Given the description of an element on the screen output the (x, y) to click on. 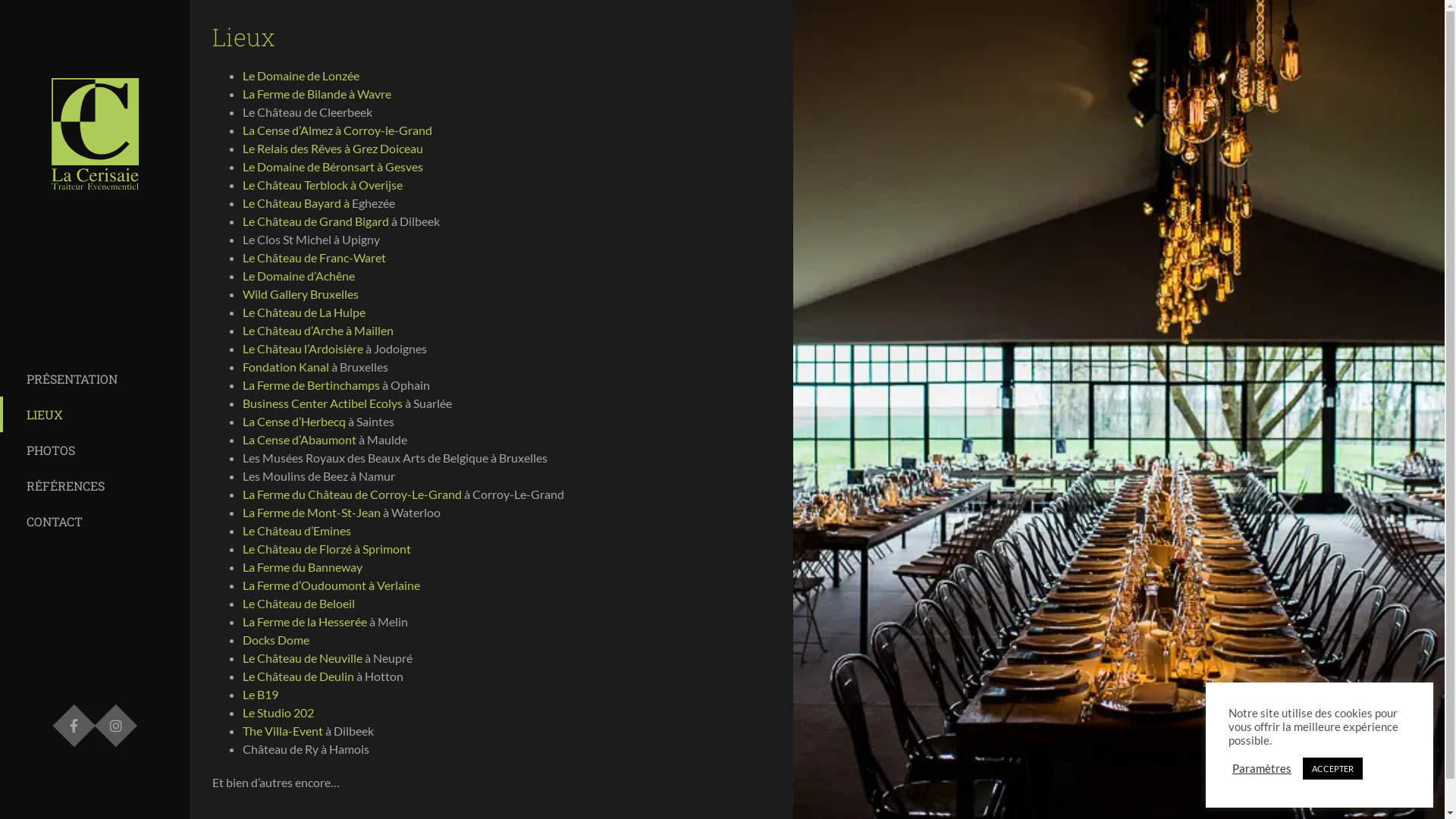
Fondation Kanal Element type: text (285, 366)
CONTACT Element type: text (94, 521)
PHOTOS Element type: text (94, 449)
ACCEPTER Element type: text (1332, 768)
L Element type: text (245, 348)
Wild Gallery Bruxelles Element type: text (300, 293)
LIEUX Element type: text (94, 414)
Business Center Actibel Ecolys Element type: text (322, 402)
Docks Dome Element type: text (275, 639)
La Ferme de Bertinchamps Element type: text (310, 384)
La Ferme du Banneway Element type: text (302, 566)
Le B19 Element type: text (260, 694)
La Ferme de Mont-St-Jean Element type: text (312, 512)
The Villa-Event Element type: text (283, 730)
Le Studio 202 Element type: text (277, 712)
